Given the description of an element on the screen output the (x, y) to click on. 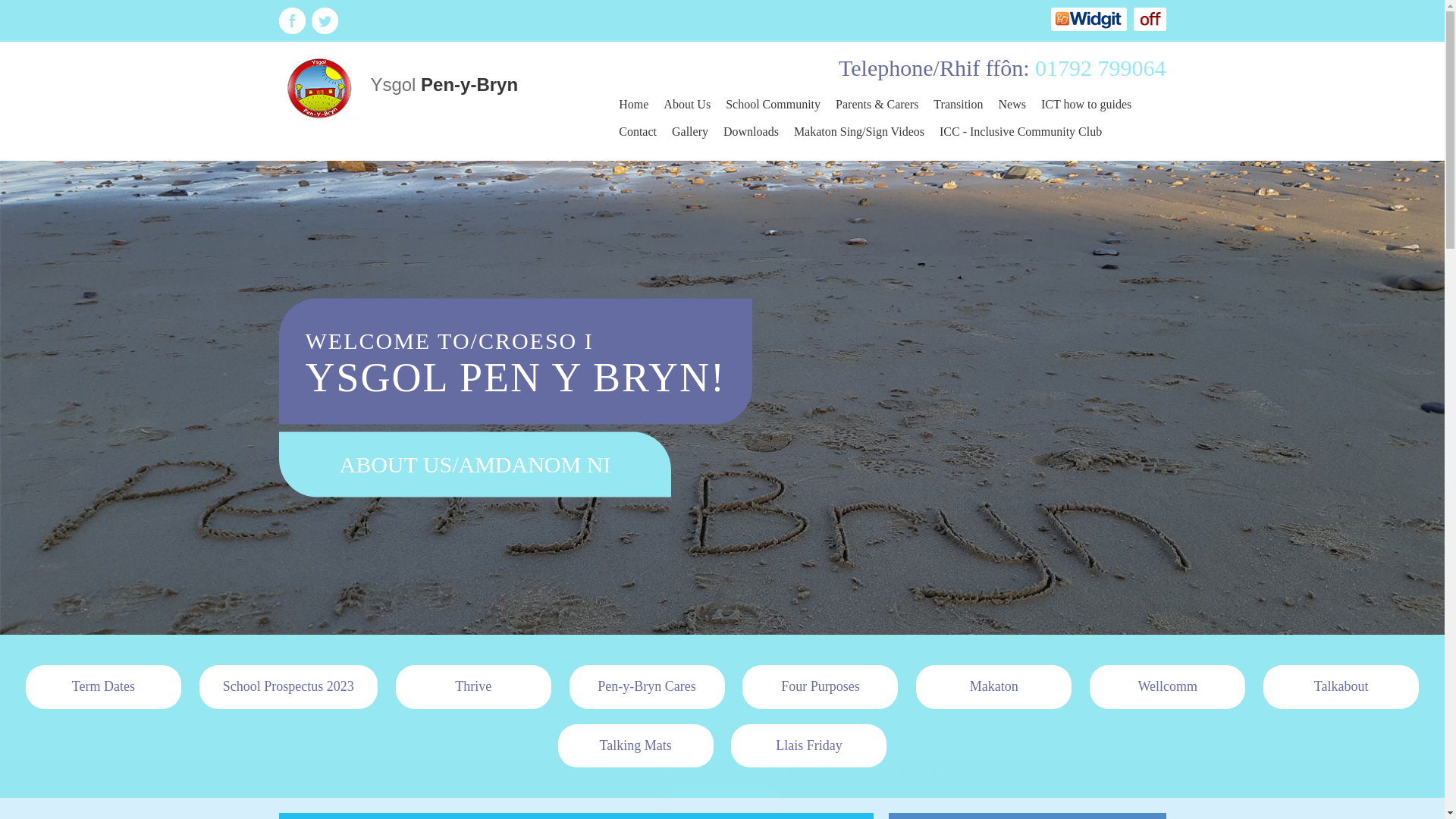
Accept and Continue (721, 798)
Home (633, 103)
About Us (686, 103)
Ysgol Pen-y-Bryn (398, 87)
School Community (772, 103)
Toggle Point Symbols (1149, 19)
